Given the description of an element on the screen output the (x, y) to click on. 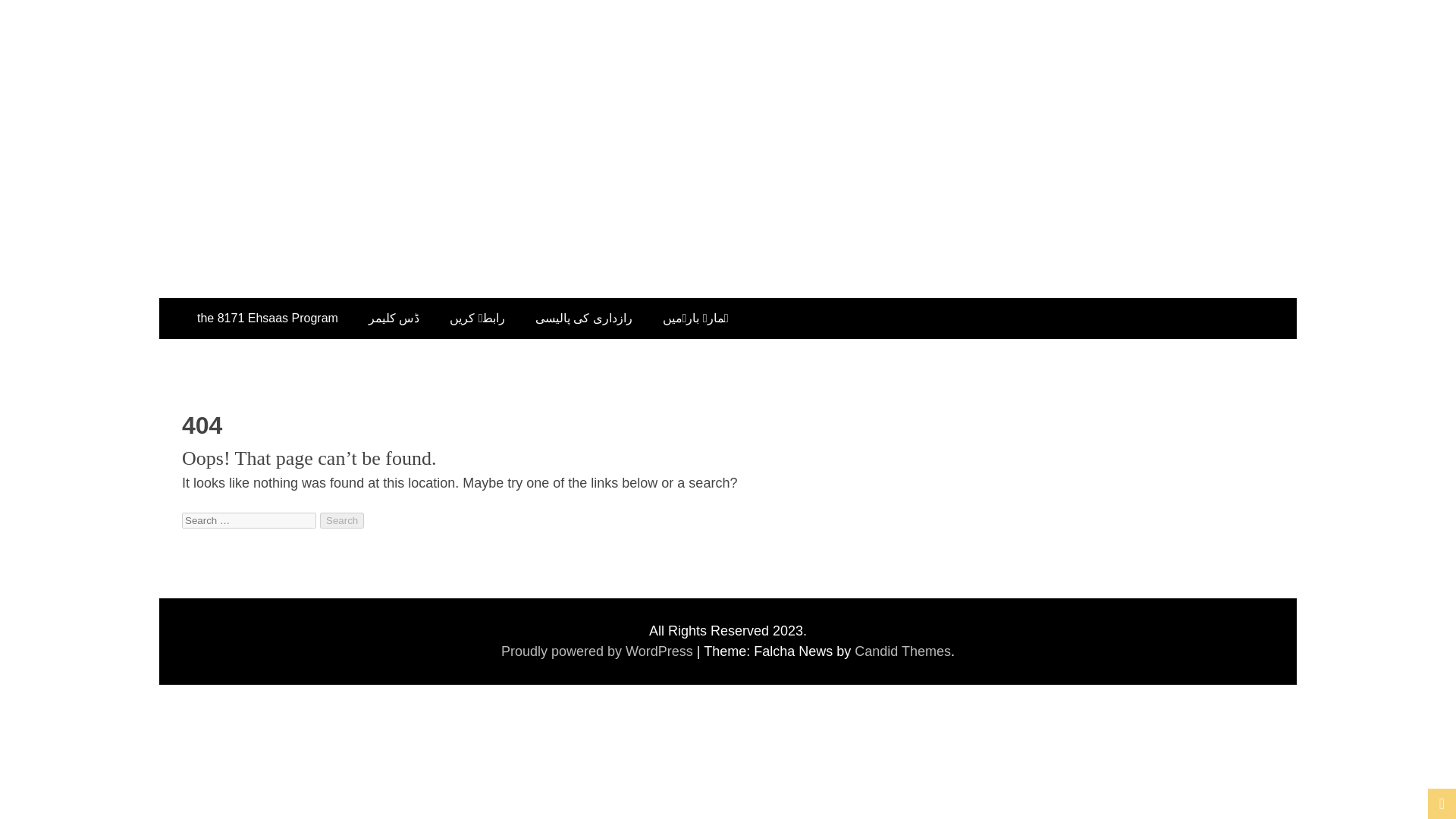
Candid Themes (902, 651)
Proudly powered by WordPress (598, 651)
Search (342, 520)
Search (342, 520)
Search (342, 520)
the 8171 Ehsaas Program (267, 318)
